Given the description of an element on the screen output the (x, y) to click on. 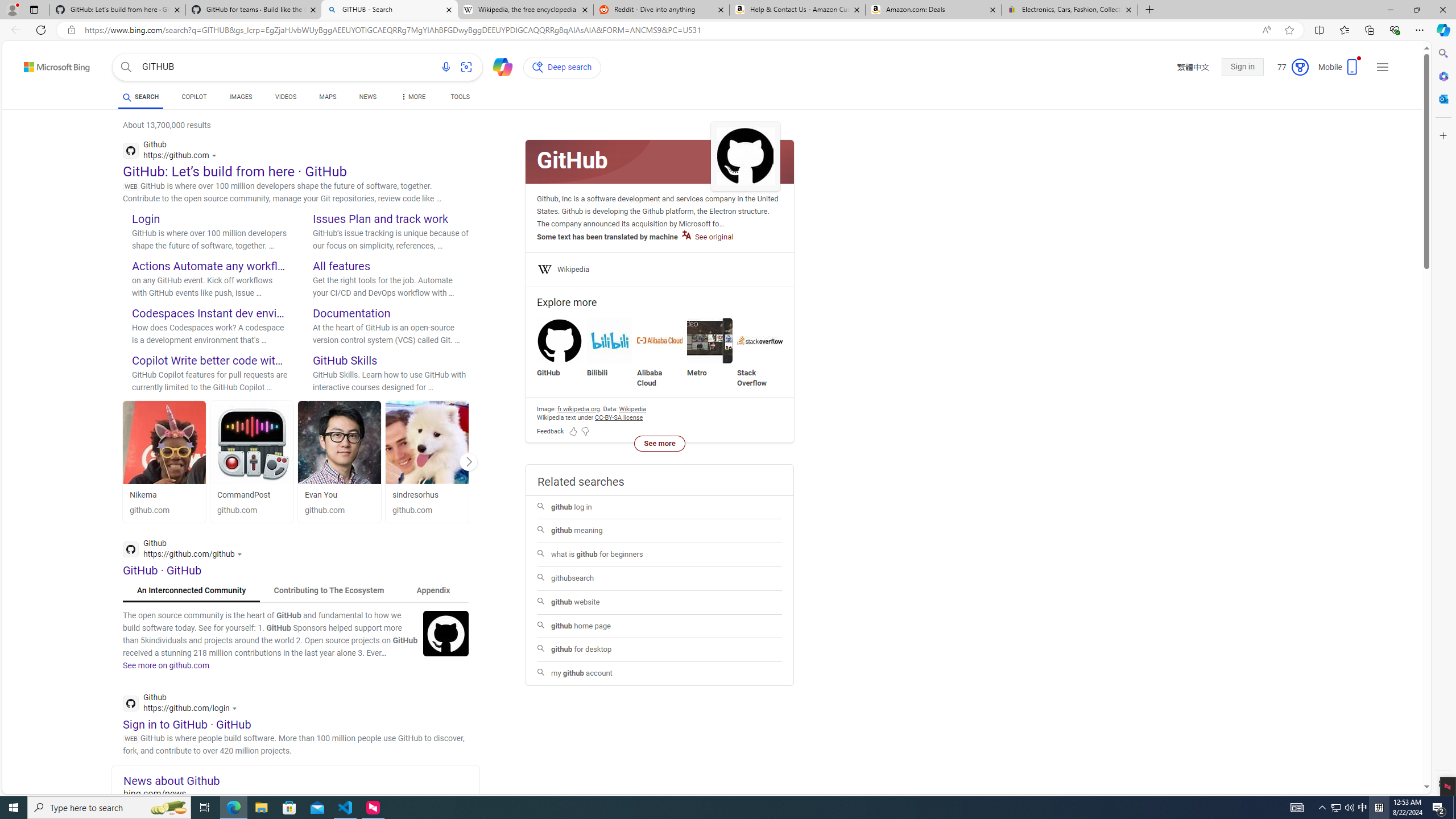
Mobile (1339, 70)
sindresorhus (427, 494)
bing.com/news (301, 793)
Stack Overflow (759, 352)
github website (659, 602)
See more on github.com (165, 665)
Image (445, 633)
github for desktop (659, 650)
